Given the description of an element on the screen output the (x, y) to click on. 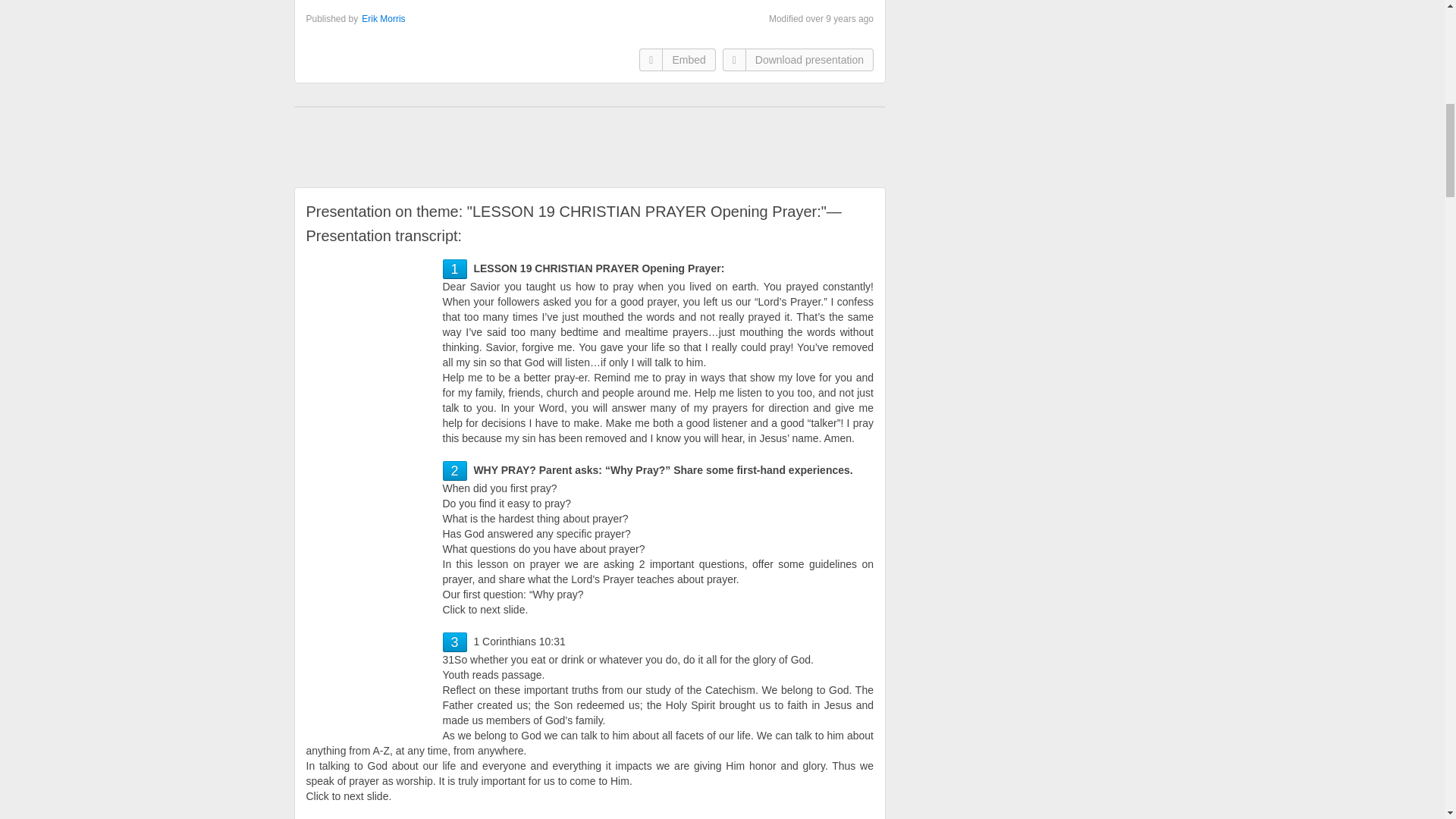
LESSON 19 CHRISTIAN PRAYER Opening Prayer: (453, 268)
